Given the description of an element on the screen output the (x, y) to click on. 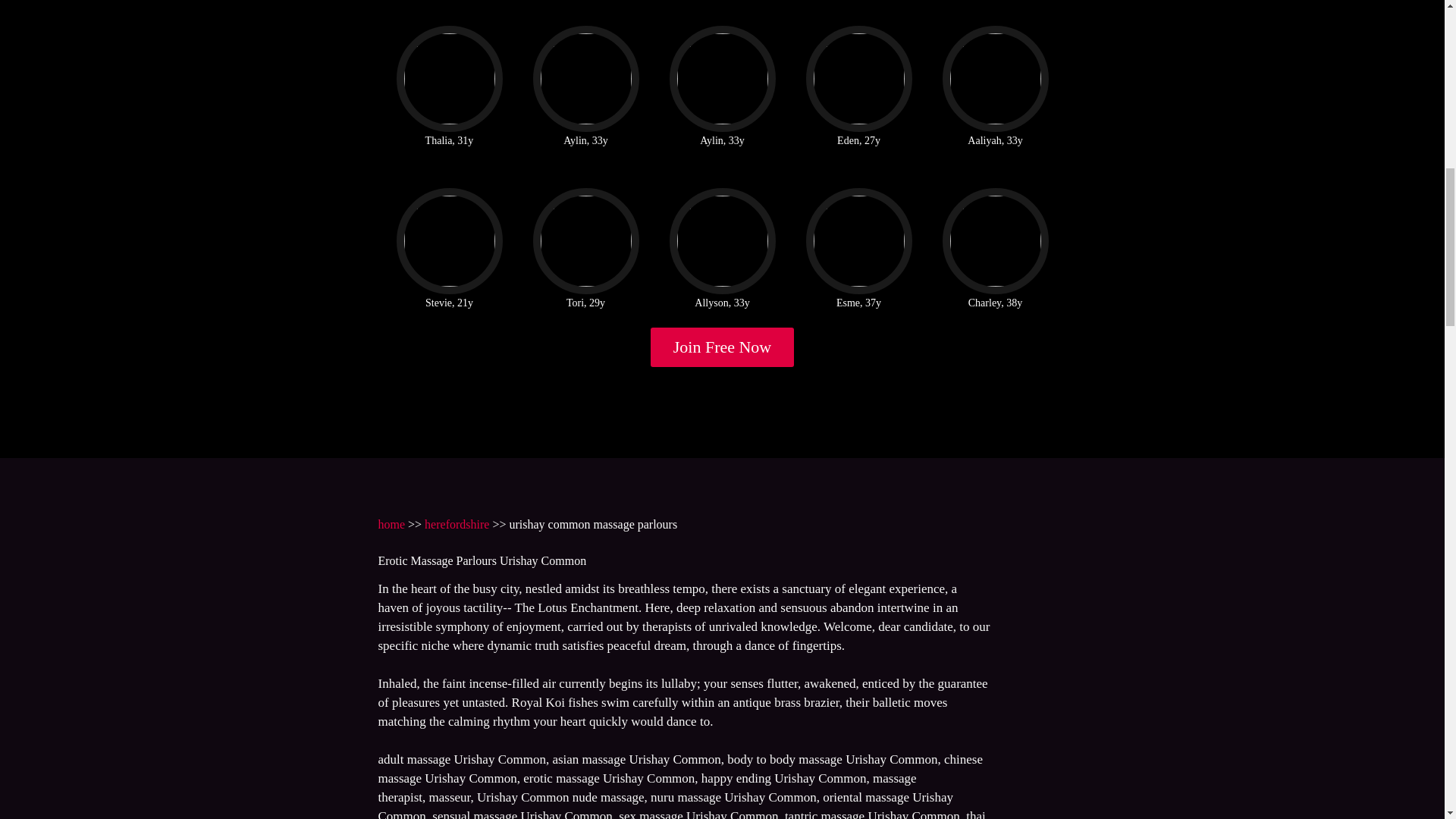
Join (722, 346)
herefordshire (457, 523)
home (390, 523)
Join Free Now (722, 346)
